Given the description of an element on the screen output the (x, y) to click on. 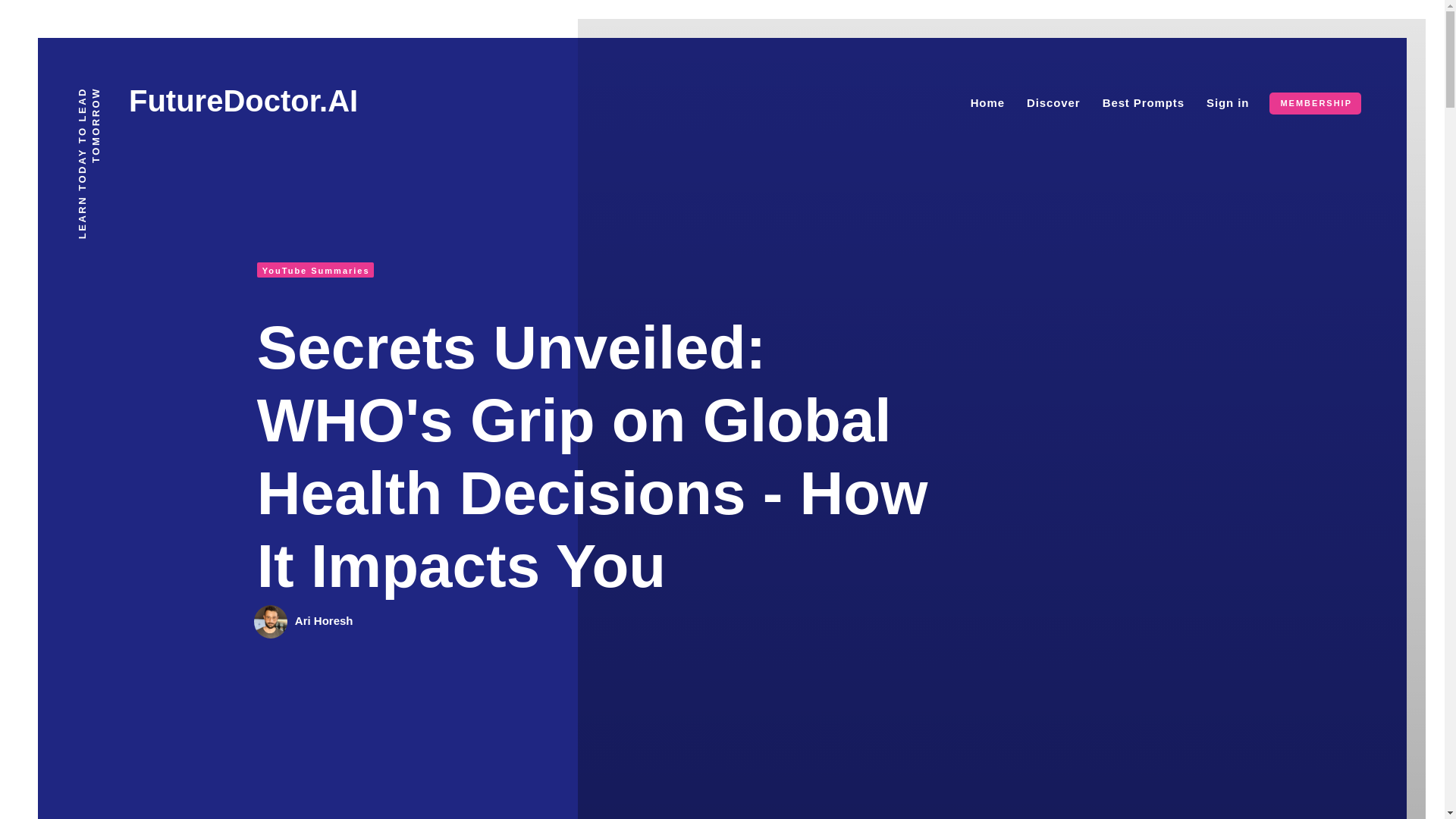
YouTube Summaries (315, 270)
Discover (1053, 101)
MEMBERSHIP (1315, 103)
Best Prompts (1143, 101)
FutureDoctor.AI (243, 100)
Sign in (1227, 101)
Home (987, 101)
Ari Horesh (324, 620)
